Given the description of an element on the screen output the (x, y) to click on. 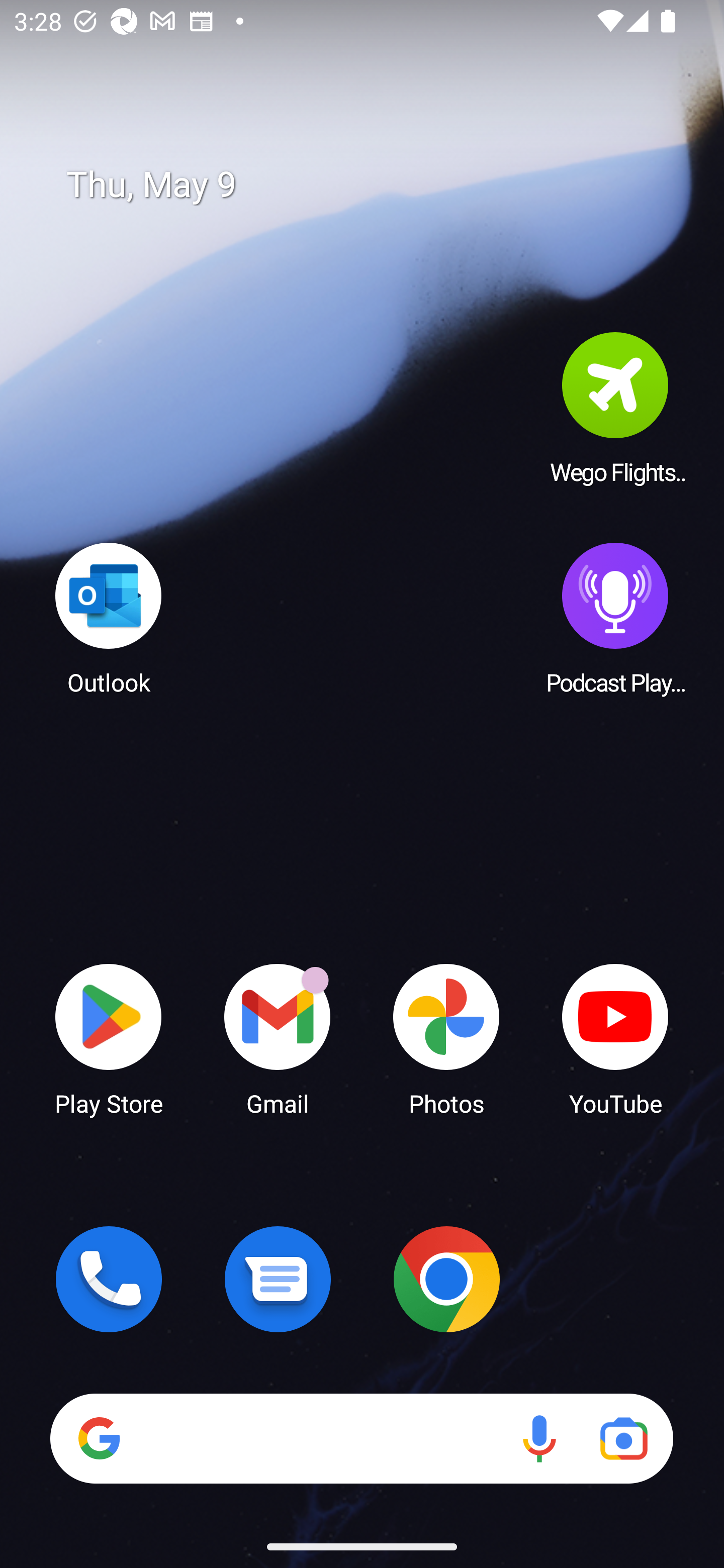
Thu, May 9 (375, 184)
Wego Flights & Hotels (615, 407)
Outlook (108, 617)
Podcast Player (615, 617)
Play Store (108, 1038)
Gmail Gmail has 18 notifications (277, 1038)
Photos (445, 1038)
YouTube (615, 1038)
Phone (108, 1279)
Messages (277, 1279)
Chrome (446, 1279)
Search Voice search Google Lens (361, 1438)
Voice search (539, 1438)
Google Lens (623, 1438)
